Given the description of an element on the screen output the (x, y) to click on. 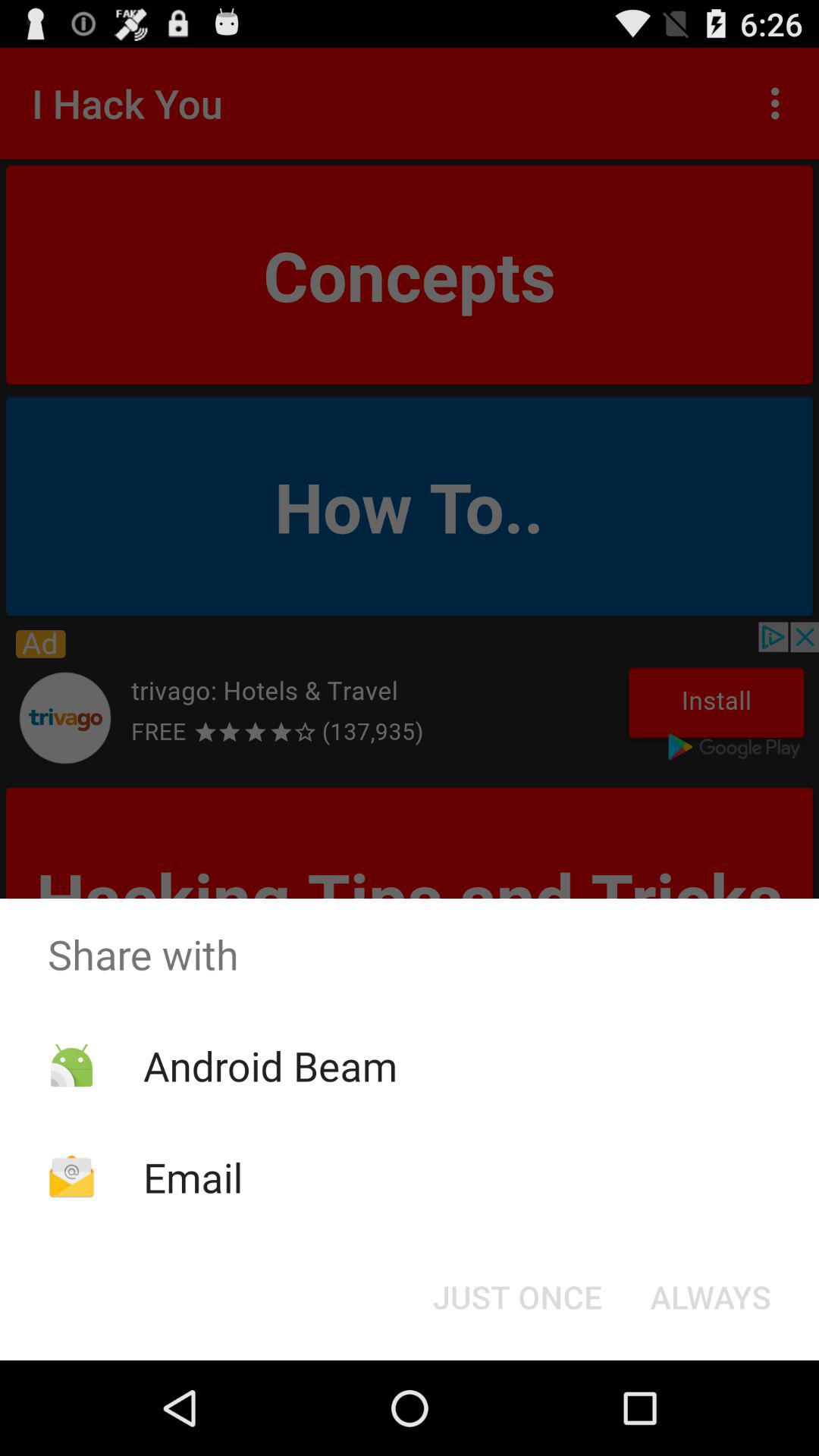
swipe until the always item (710, 1296)
